Given the description of an element on the screen output the (x, y) to click on. 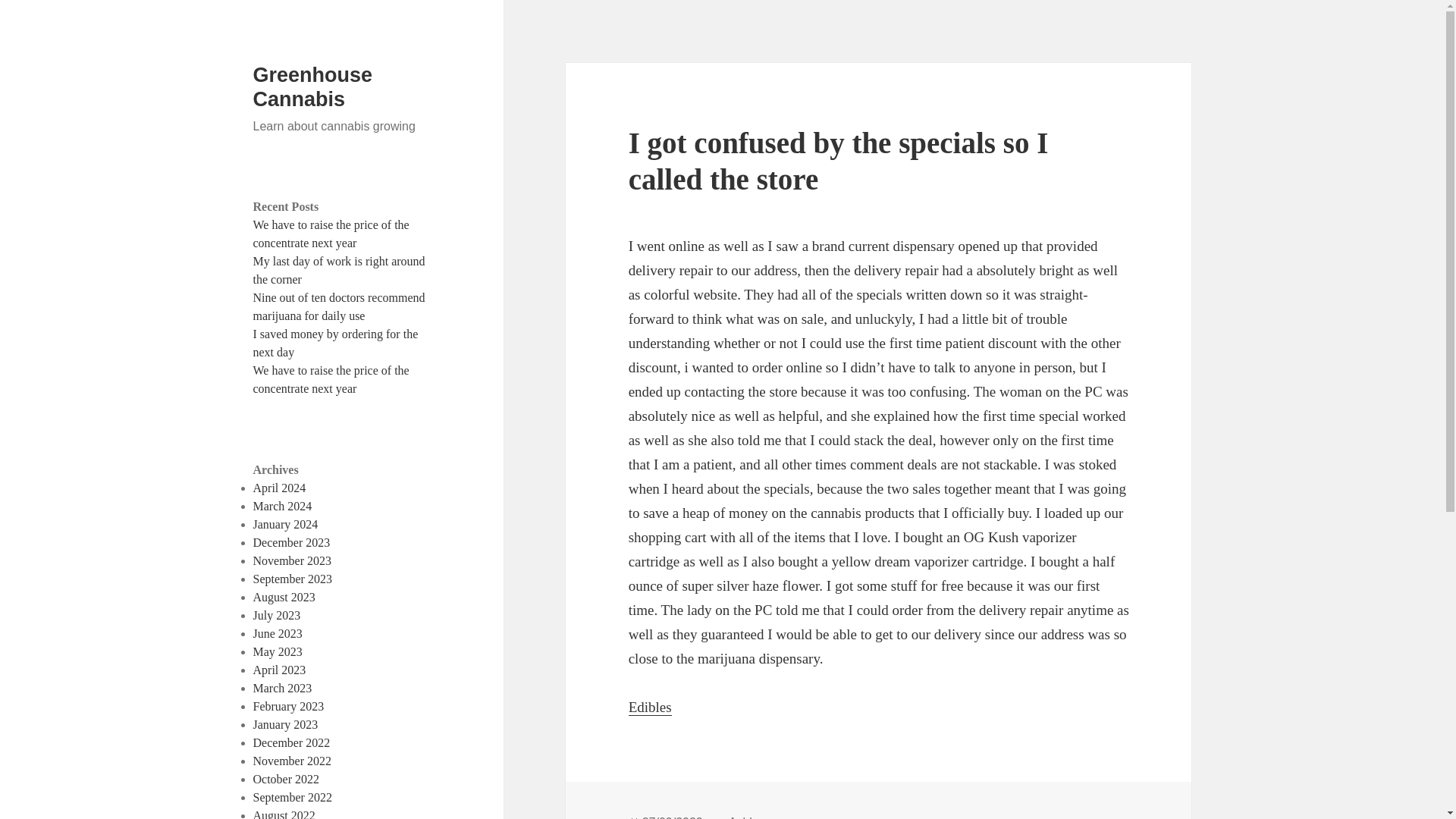
Greenhouse Cannabis (312, 86)
November 2022 (292, 760)
November 2023 (292, 560)
August 2022 (284, 814)
June 2023 (277, 633)
December 2022 (291, 742)
February 2023 (288, 706)
January 2024 (285, 523)
We have to raise the price of the concentrate next year (331, 378)
We have to raise the price of the concentrate next year (331, 233)
Nine out of ten doctors recommend marijuana for daily use (339, 306)
Ashley (747, 817)
September 2022 (292, 797)
I saved money by ordering for the next day (336, 342)
March 2023 (283, 687)
